Given the description of an element on the screen output the (x, y) to click on. 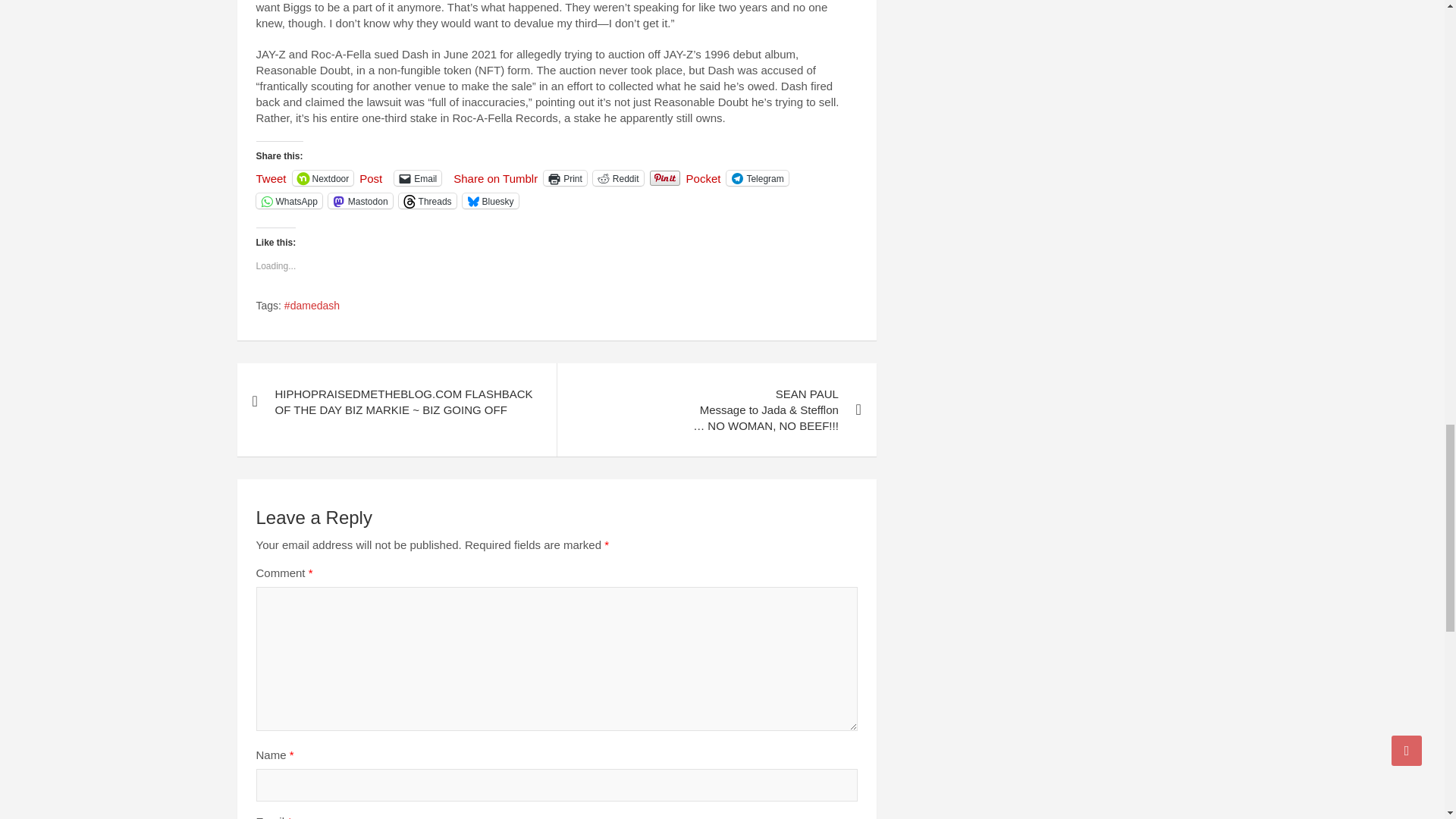
Click to share on Nextdoor (322, 177)
Click to share on Bluesky (490, 200)
Click to share on Reddit (617, 177)
Click to share on Threads (427, 200)
Click to email a link to a friend (417, 177)
Share on Tumblr (494, 177)
Click to share on Mastodon (361, 200)
Click to share on WhatsApp (288, 200)
Click to share on Telegram (756, 177)
Click to print (564, 177)
